Given the description of an element on the screen output the (x, y) to click on. 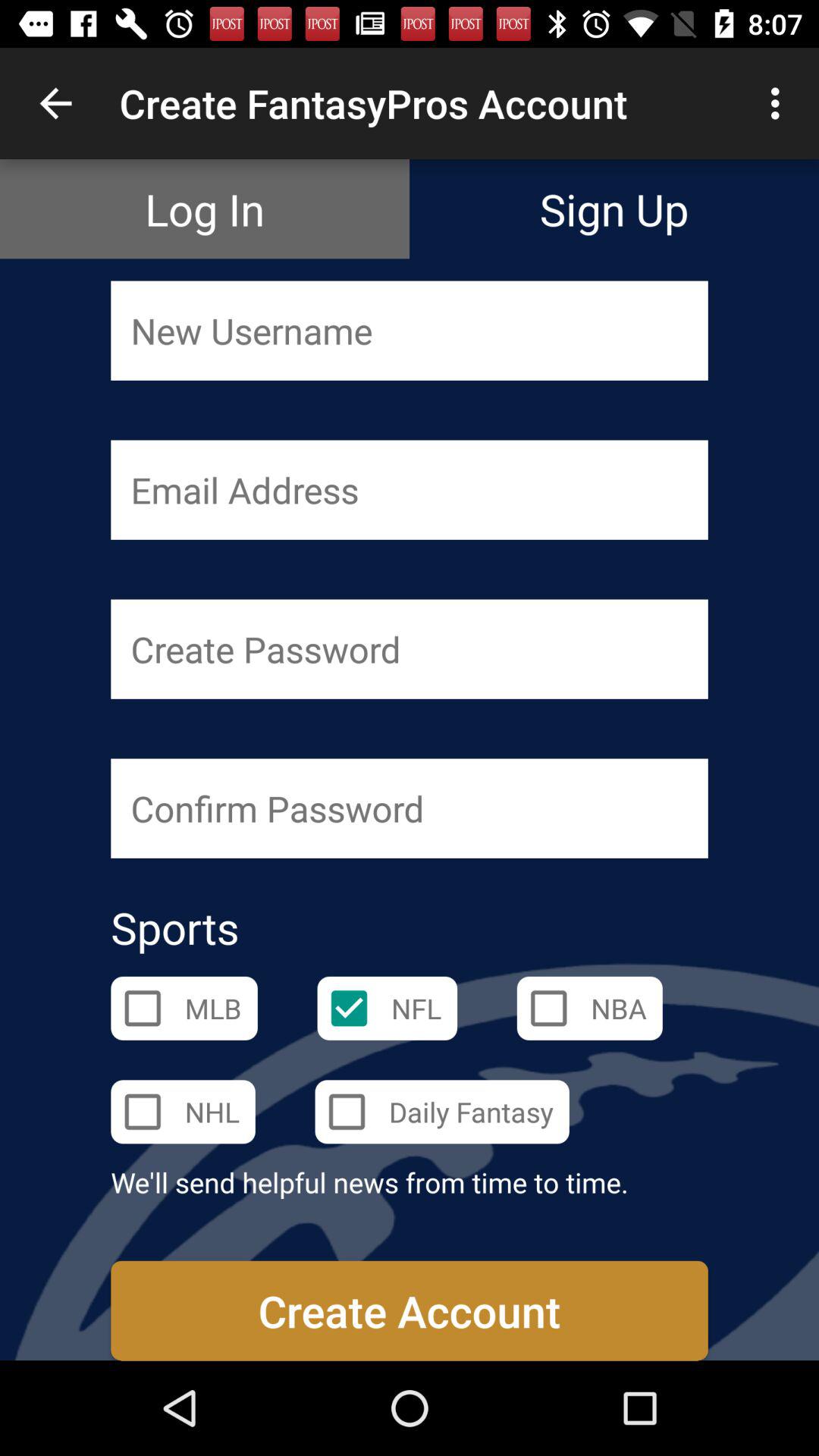
flip until log in item (204, 208)
